Given the description of an element on the screen output the (x, y) to click on. 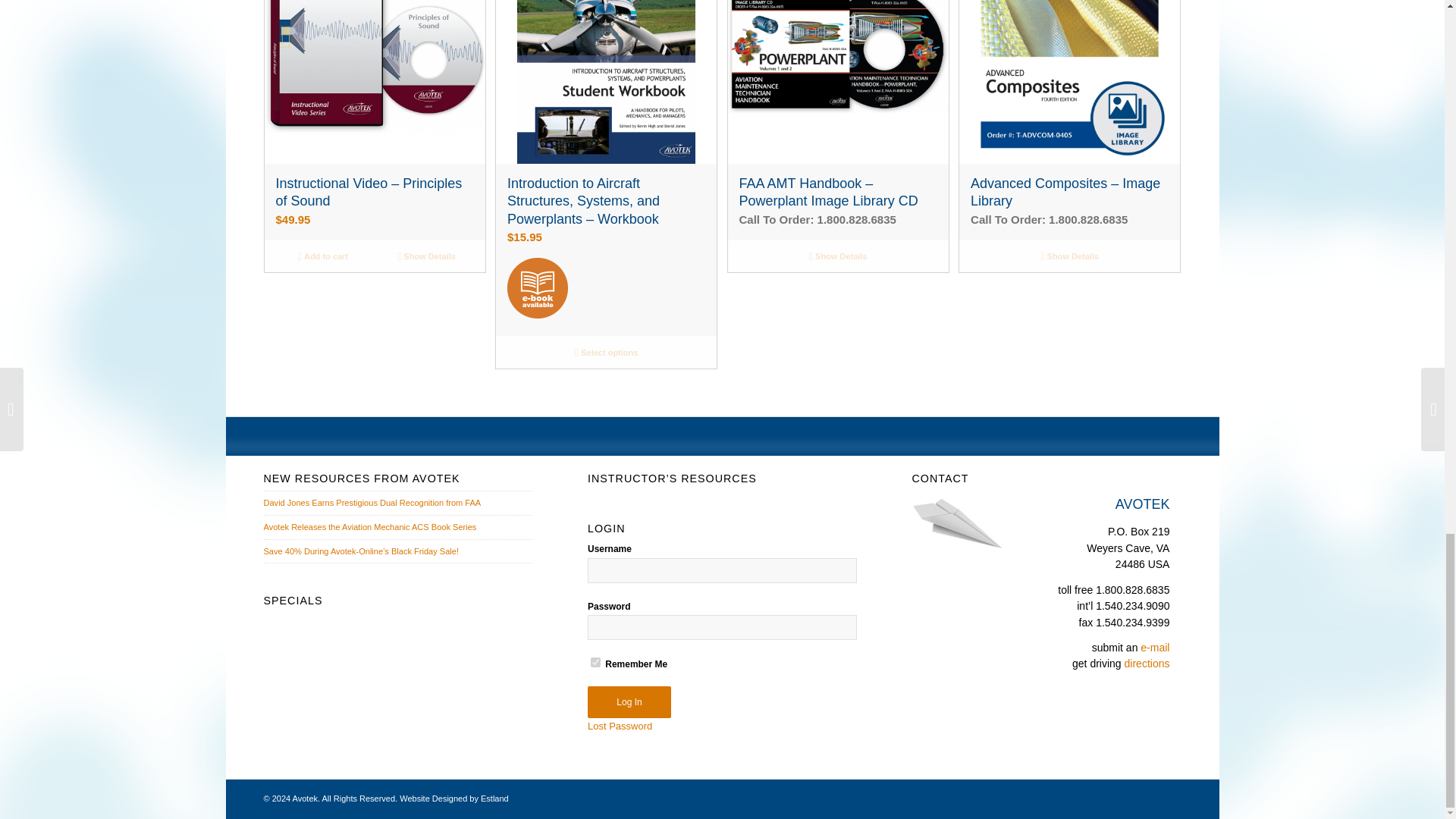
forever (595, 662)
Log In (629, 702)
